Given the description of an element on the screen output the (x, y) to click on. 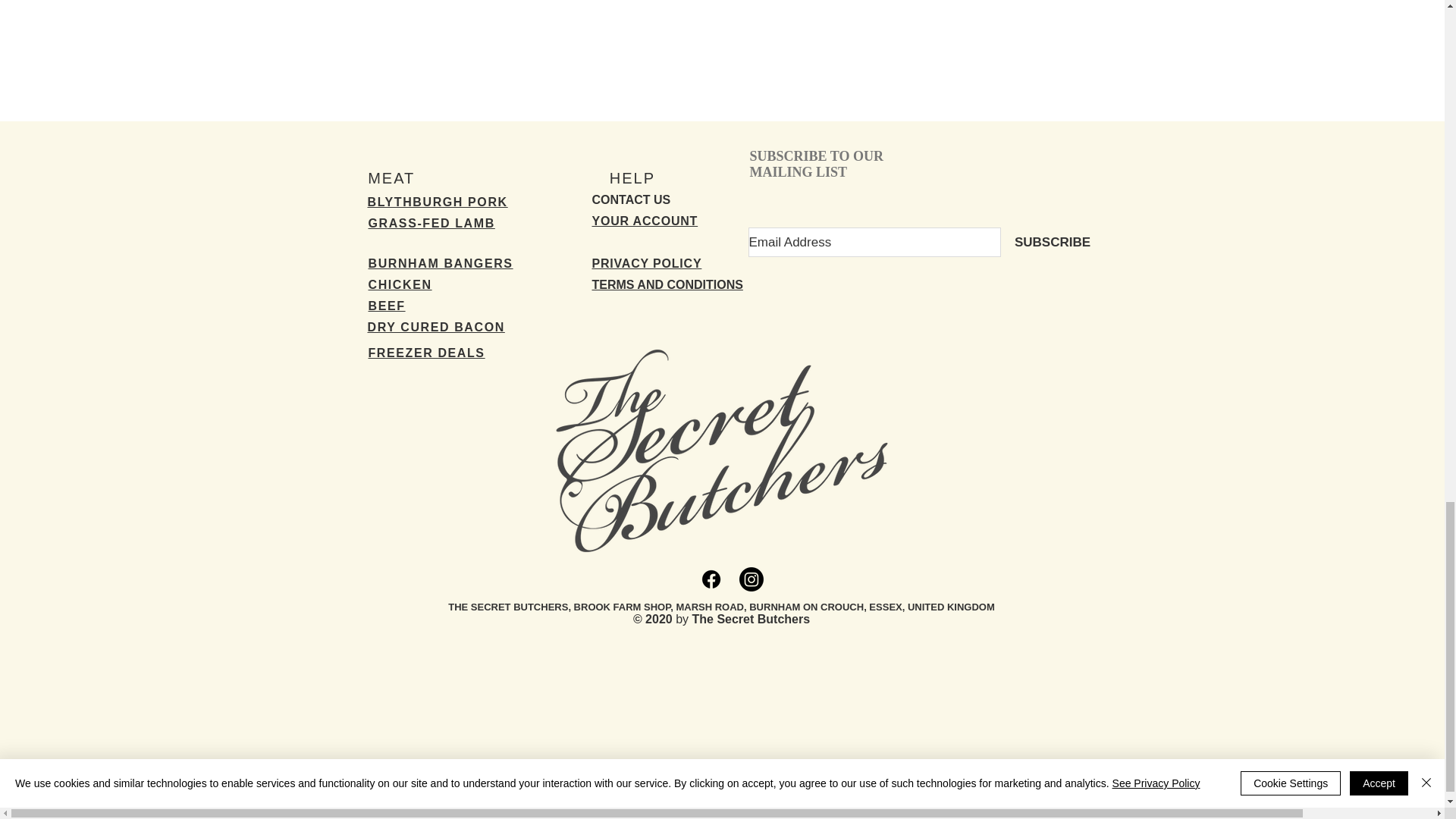
CHICKEN (400, 284)
CONTACT US (630, 199)
GRASS-FED LAMB (431, 223)
FREEZER DEALS (426, 352)
BURNHAM BANGERS (440, 263)
TERMS AND CONDITIONS (666, 284)
PRIVACY POLICY (646, 263)
Cookie Alert (649, 327)
BLYTHBURGH PORK (436, 201)
YOUR ACCOUNT (644, 220)
